Given the description of an element on the screen output the (x, y) to click on. 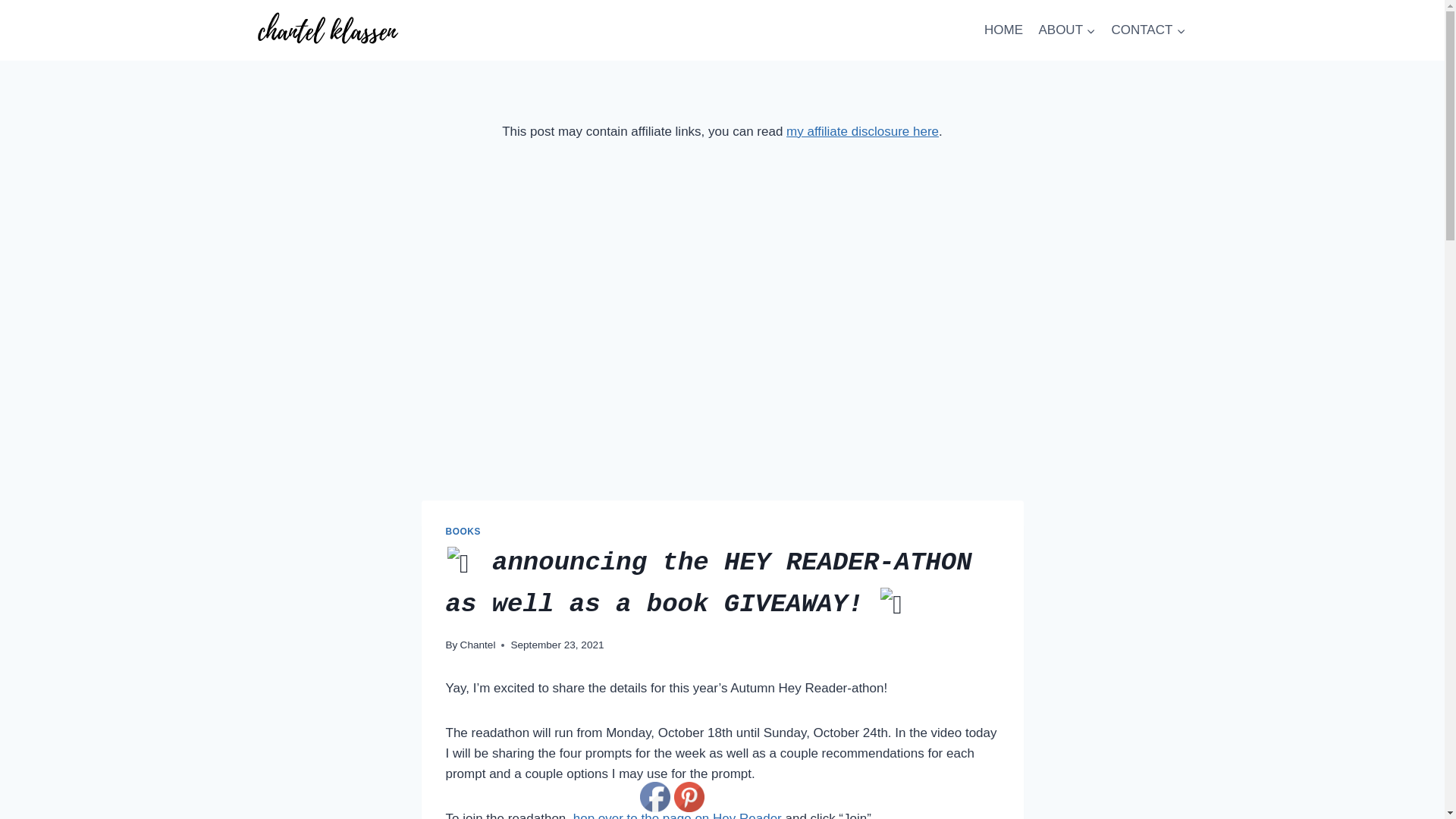
Pinterest (689, 797)
BOOKS (463, 531)
hop over to the page on Hey Reader (677, 815)
CONTACT (1147, 30)
Chantel (478, 644)
Facebook (654, 797)
HOME (1003, 30)
my affiliate disclosure here (862, 131)
ABOUT (1066, 30)
